Given the description of an element on the screen output the (x, y) to click on. 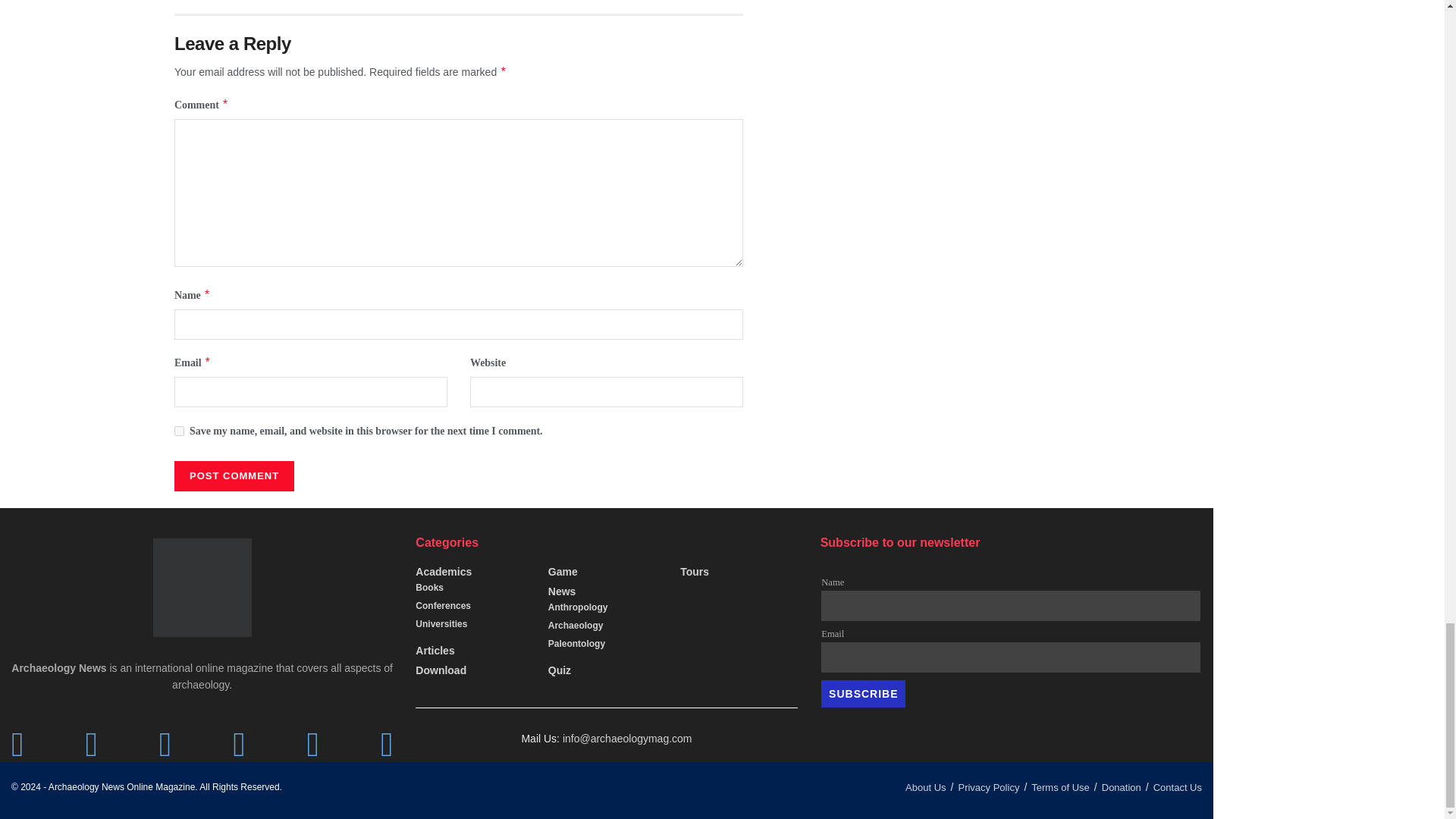
Post Comment (234, 476)
yes (179, 430)
Subscribe (863, 693)
